Given the description of an element on the screen output the (x, y) to click on. 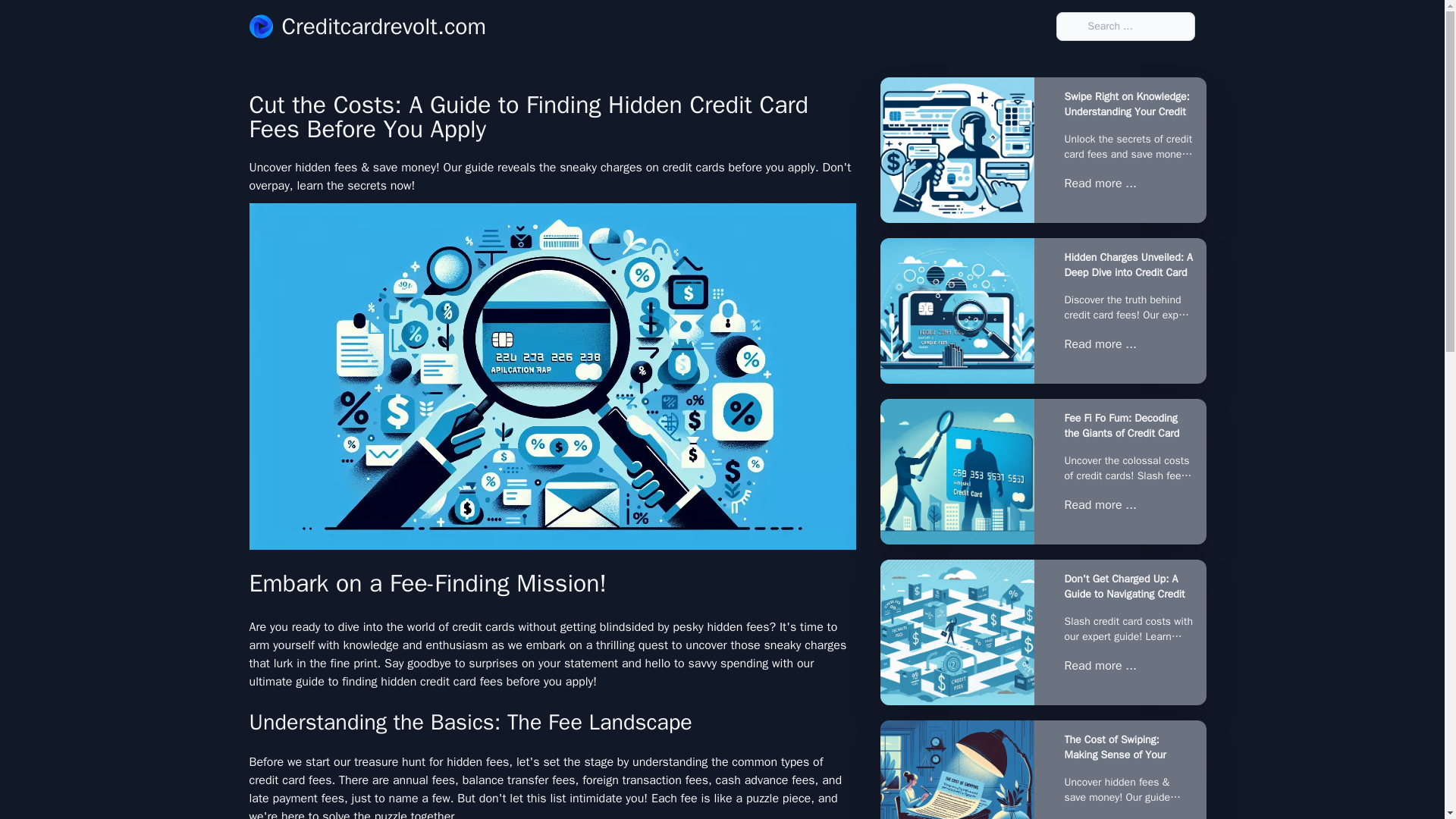
Fee Fi Fo Fum: Decoding the Giants of Credit Card Costs (956, 471)
Don't Get Charged Up: A Guide to Navigating Credit Card Fees (1128, 586)
Creditcardrevolt.com (367, 26)
Fee Fi Fo Fum: Decoding the Giants of Credit Card Costs (1128, 426)
Don't Get Charged Up: A Guide to Navigating Credit Card Fees (956, 632)
